Given the description of an element on the screen output the (x, y) to click on. 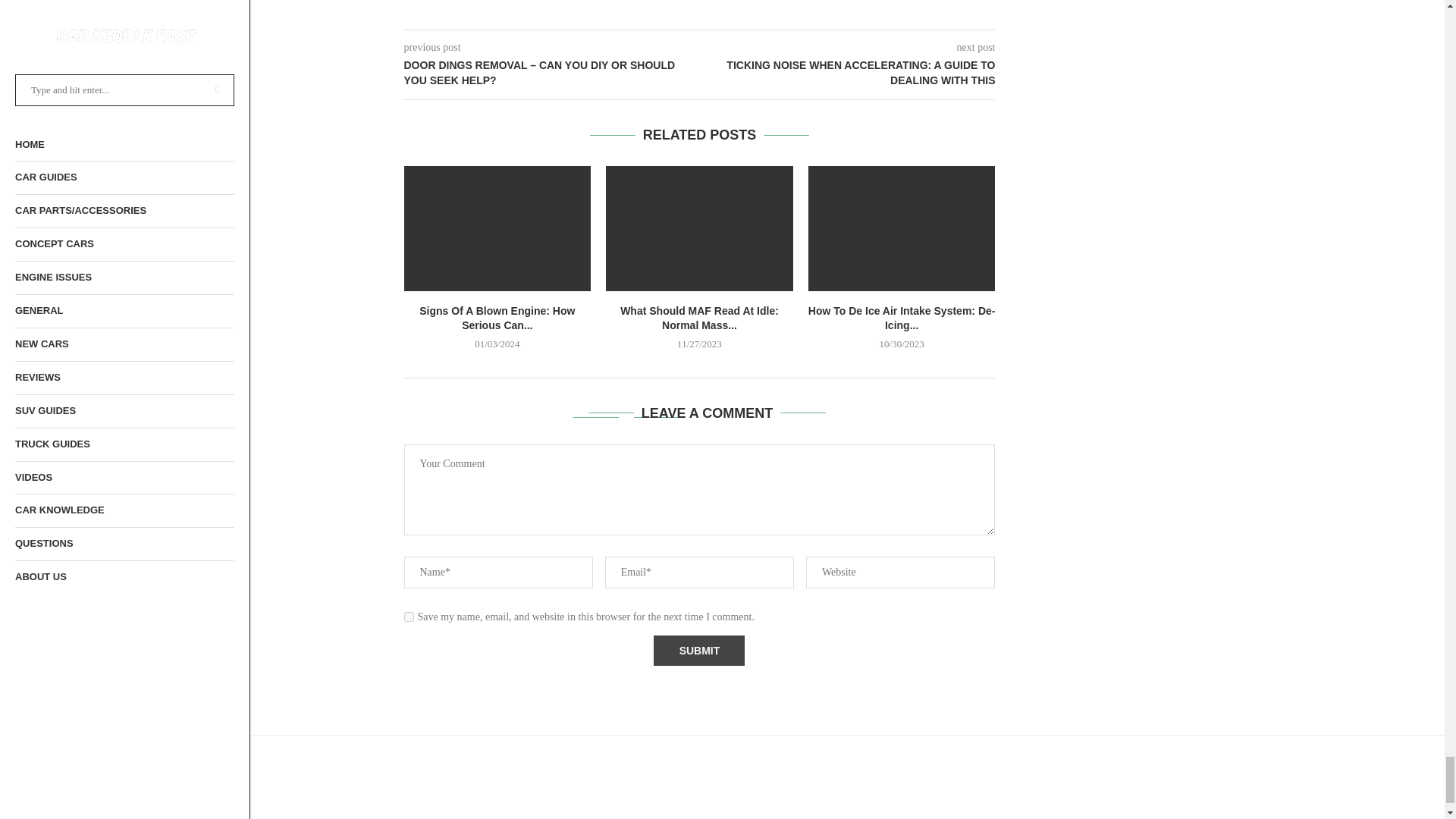
Signs Of A Blown Engine: How Serious Can This Get? (497, 228)
What Should MAF Read At Idle: Normal Mass Air Flow Reading? (699, 228)
yes (408, 616)
Submit (698, 650)
